Given the description of an element on the screen output the (x, y) to click on. 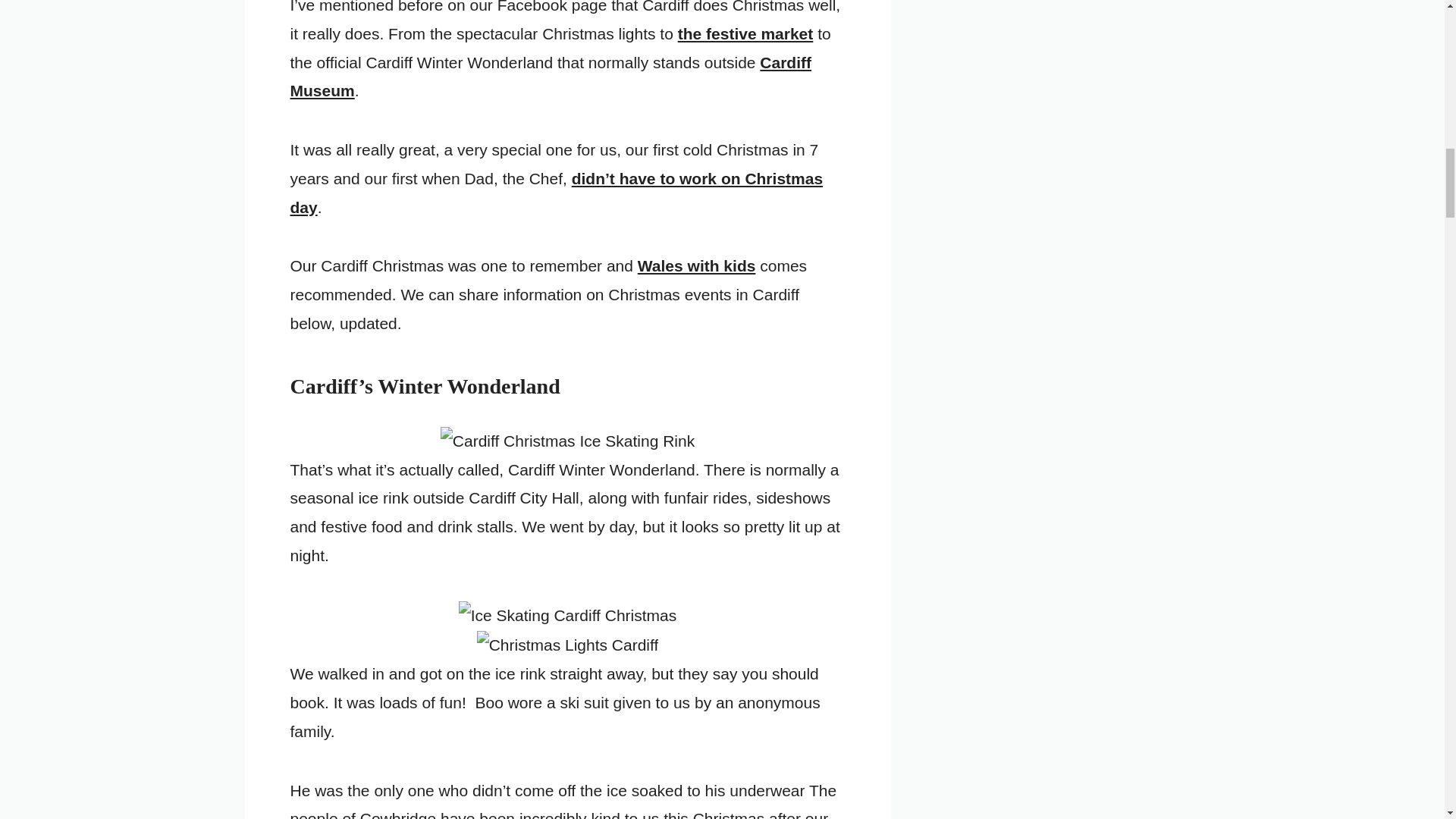
Cardiff National Museum (549, 76)
Cardiff Christmas Market (745, 33)
Cardiff Museum (549, 76)
Let's Hear it For Chefs! (555, 192)
Wales with kids (696, 265)
the festive market (745, 33)
